Given the description of an element on the screen output the (x, y) to click on. 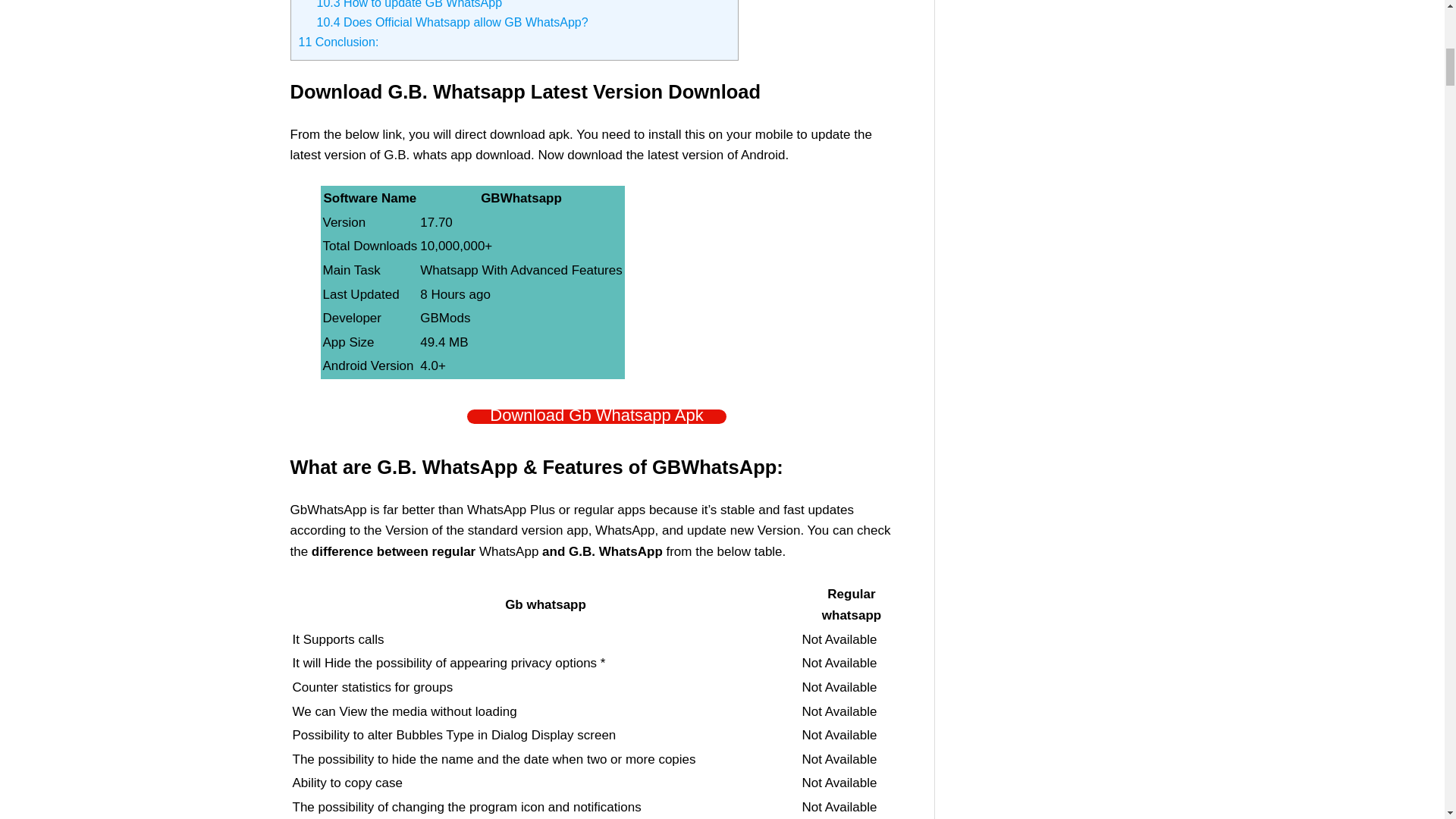
10.4 Does Official Whatsapp allow GB WhatsApp? (452, 21)
10.3 How to update GB WhatsApp (409, 4)
11 Conclusion: (338, 42)
Download Gb Whatsapp Apk (596, 416)
